Given the description of an element on the screen output the (x, y) to click on. 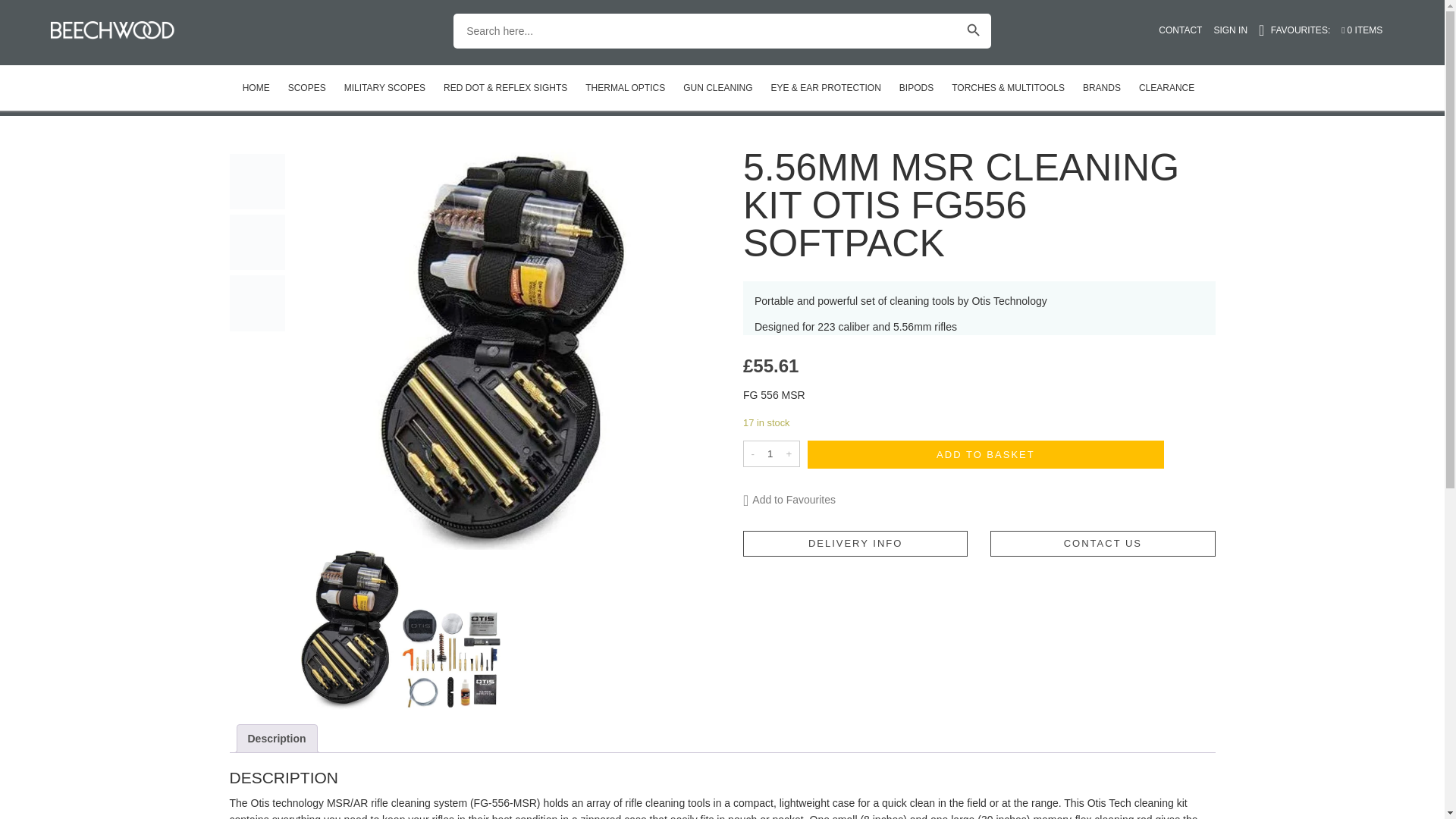
556 msra (255, 302)
CONTACT (1185, 30)
HOME (255, 87)
Start shopping (1366, 30)
556 msr (255, 242)
MILITARY SCOPES (383, 87)
Qty (769, 453)
Gun cleaning kit M4 5.56mm (450, 659)
gun cleaning kit M4 AR15 (349, 629)
Search Button (973, 31)
5.56mm MSR Cleaning Kit OTIS FG556 Softpack min (255, 180)
SIGN IN (1235, 30)
1 (769, 453)
FAVOURITES: (1299, 30)
- (751, 453)
